Given the description of an element on the screen output the (x, y) to click on. 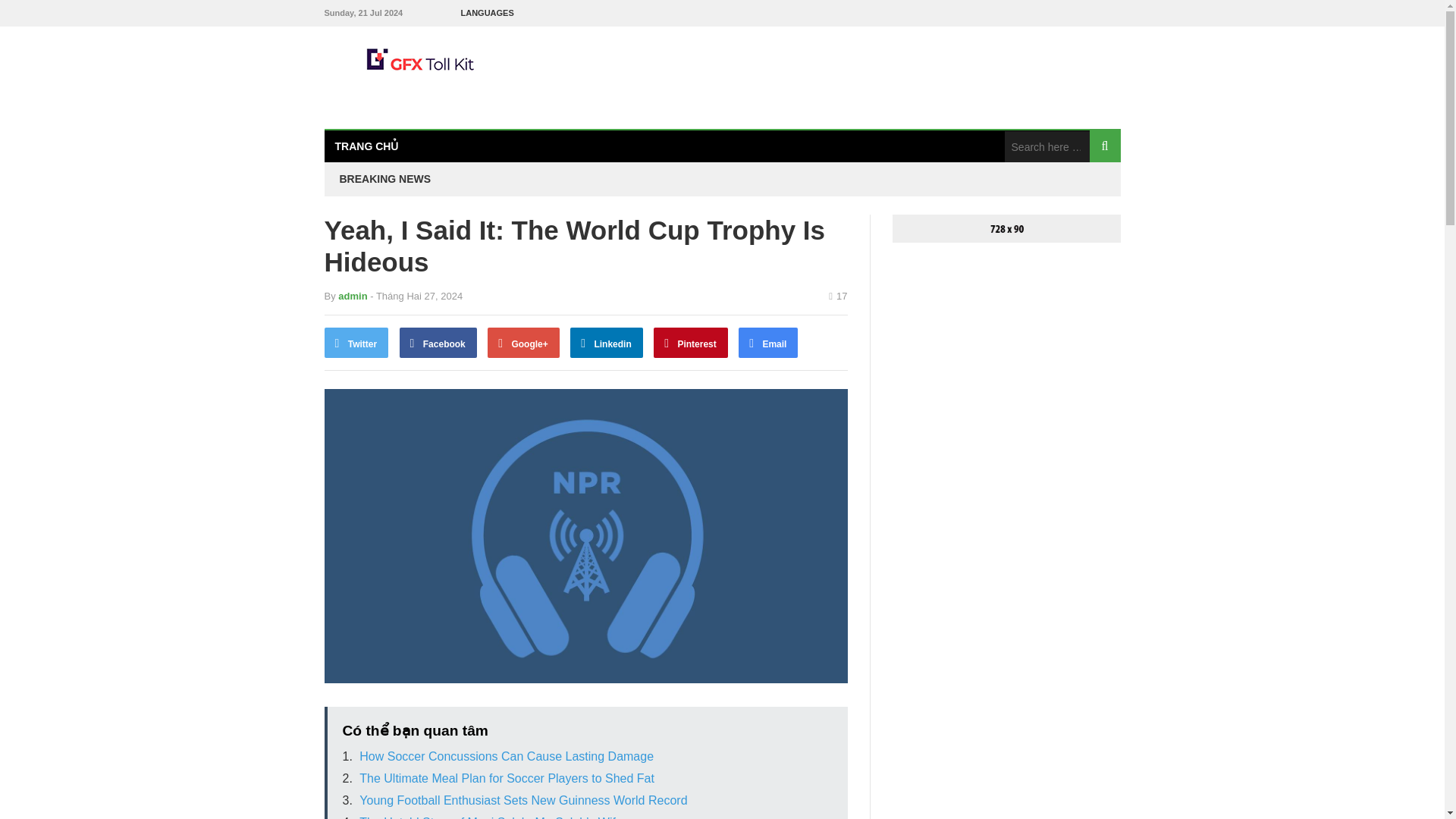
Twitter (356, 342)
The Ultimate Meal Plan for Soccer Players to Shed Fat (506, 778)
Pinterest (690, 342)
admin (351, 296)
Linkedin (606, 342)
Facebook (437, 342)
LANGUAGES (487, 13)
Young Football Enthusiast Sets New Guinness World Record (523, 799)
Search for: (1046, 146)
How Soccer Concussions Can Cause Lasting Damage (506, 756)
The Ultimate Meal Plan for Soccer Players to Shed Fat (506, 778)
Email (767, 342)
Young Football Enthusiast Sets New Guinness World Record (523, 799)
How Soccer Concussions Can Cause Lasting Damage (506, 756)
